Given the description of an element on the screen output the (x, y) to click on. 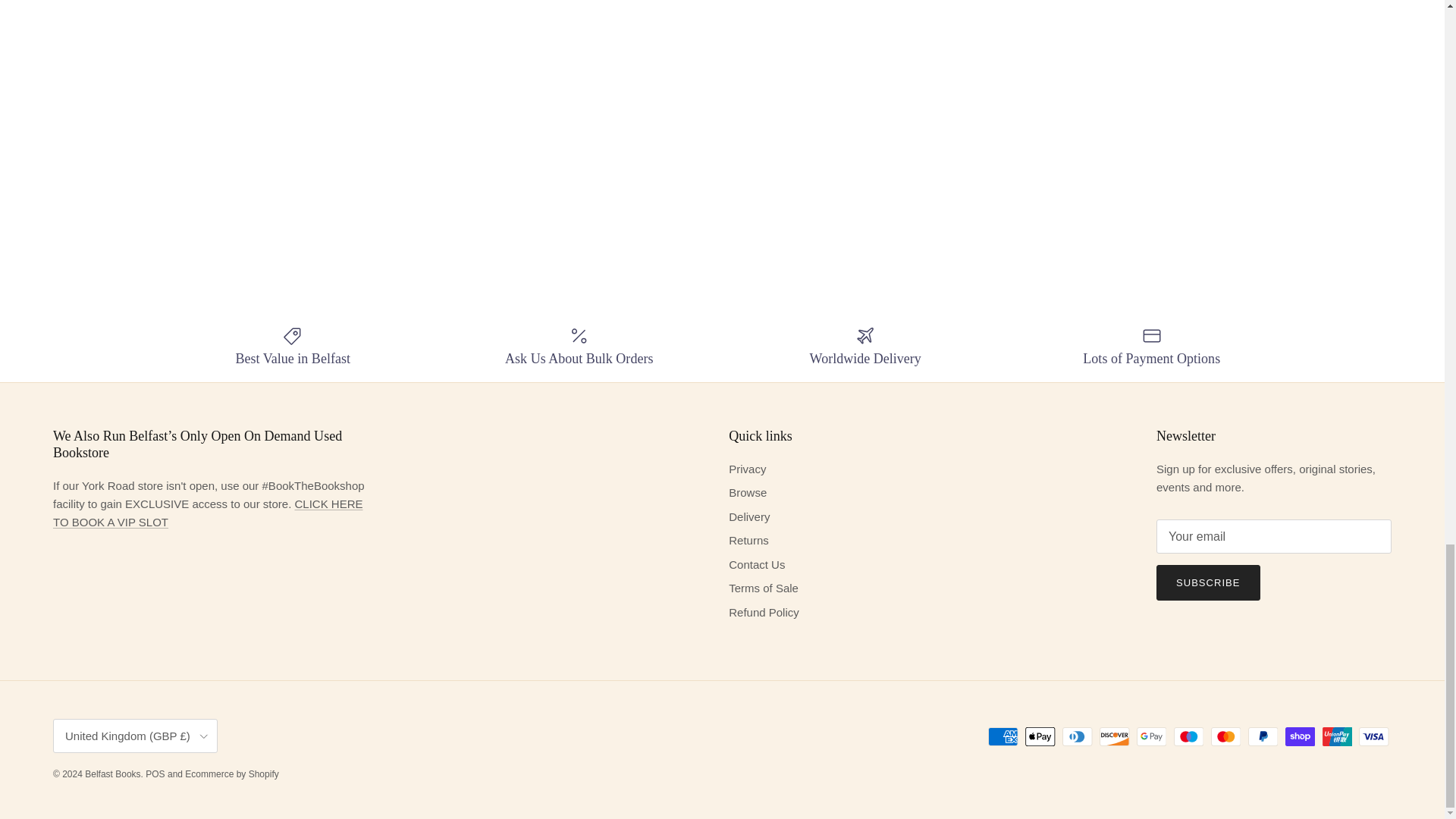
Union Pay (1337, 736)
Mastercard (1225, 736)
Shop Pay (1299, 736)
American Express (1002, 736)
Discover (1114, 736)
Diners Club (1077, 736)
Maestro (1188, 736)
Google Pay (1151, 736)
PayPal (1262, 736)
Apple Pay (1040, 736)
